Given the description of an element on the screen output the (x, y) to click on. 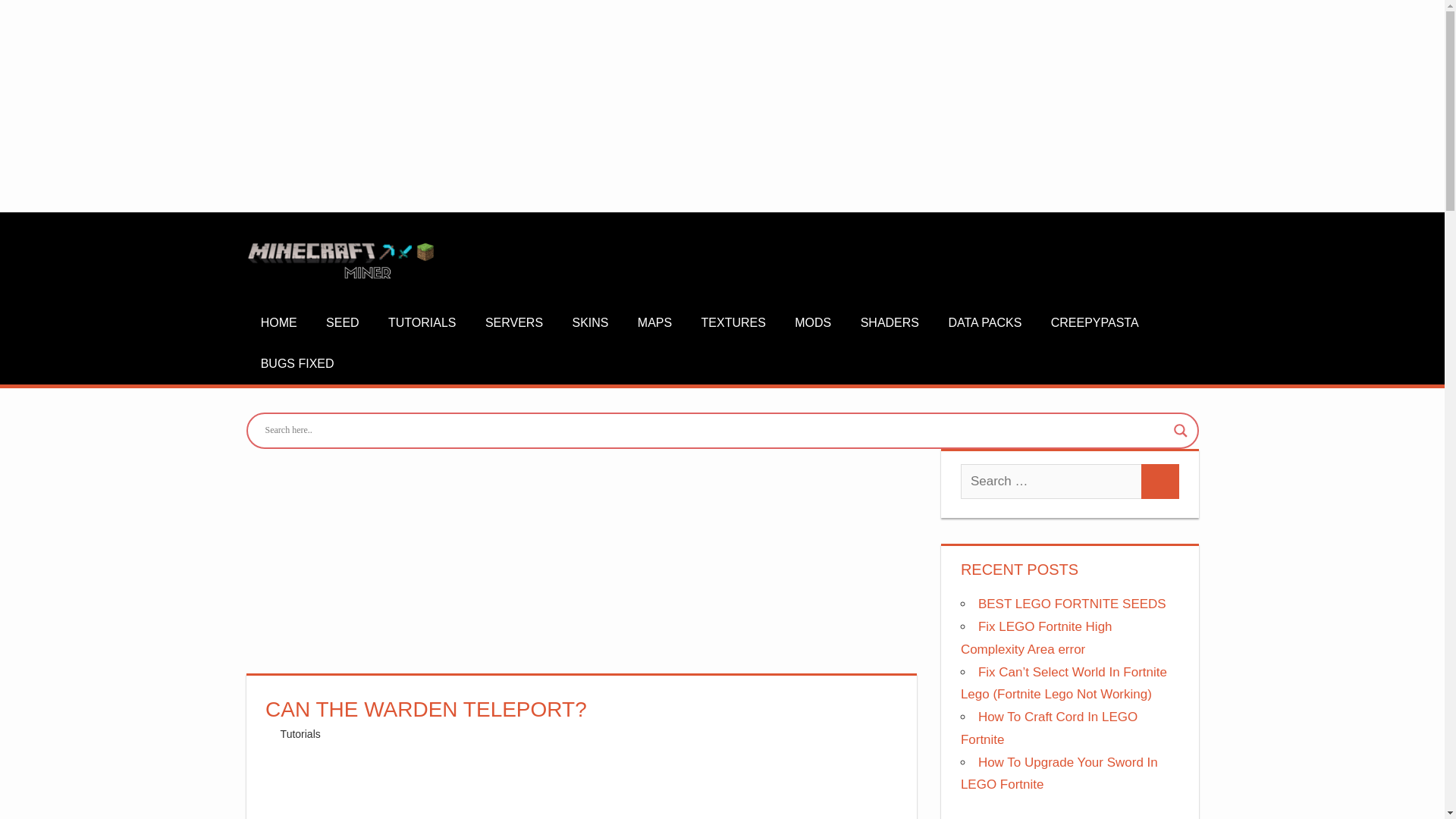
SEED (342, 323)
DATA PACKS (984, 323)
Fix LEGO Fortnite High Complexity Area error (1036, 637)
Leave a comment (392, 734)
View all posts by NikoKostaZapater (323, 734)
December 7, 2022 (324, 734)
MAPS (655, 323)
SERVERS (513, 323)
5:55 pm (324, 734)
